Given the description of an element on the screen output the (x, y) to click on. 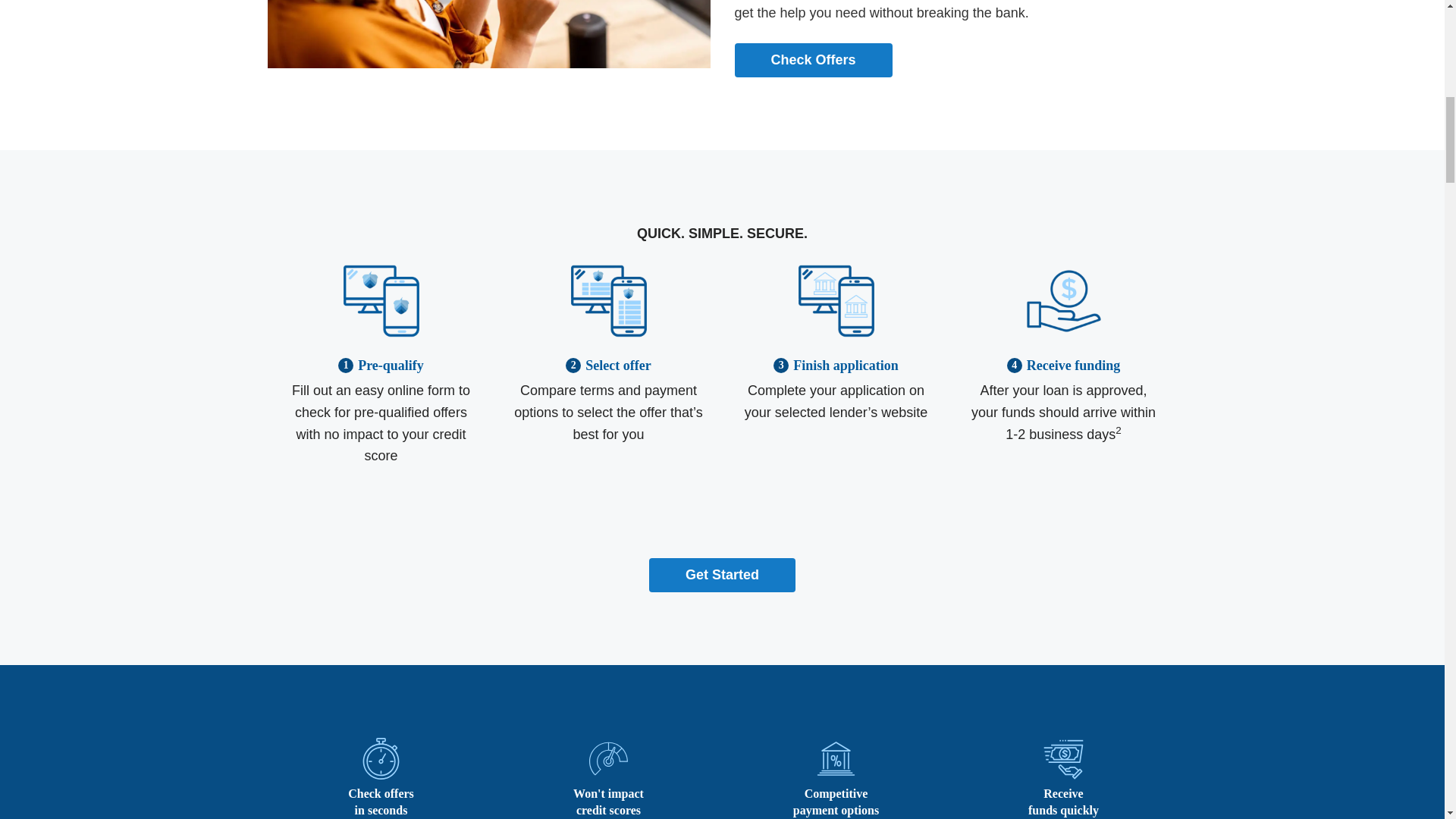
Concept of data sharing across desktop and mobile platforms. (608, 334)
Icon symbolizing monetary investment or support. (1062, 334)
